Given the description of an element on the screen output the (x, y) to click on. 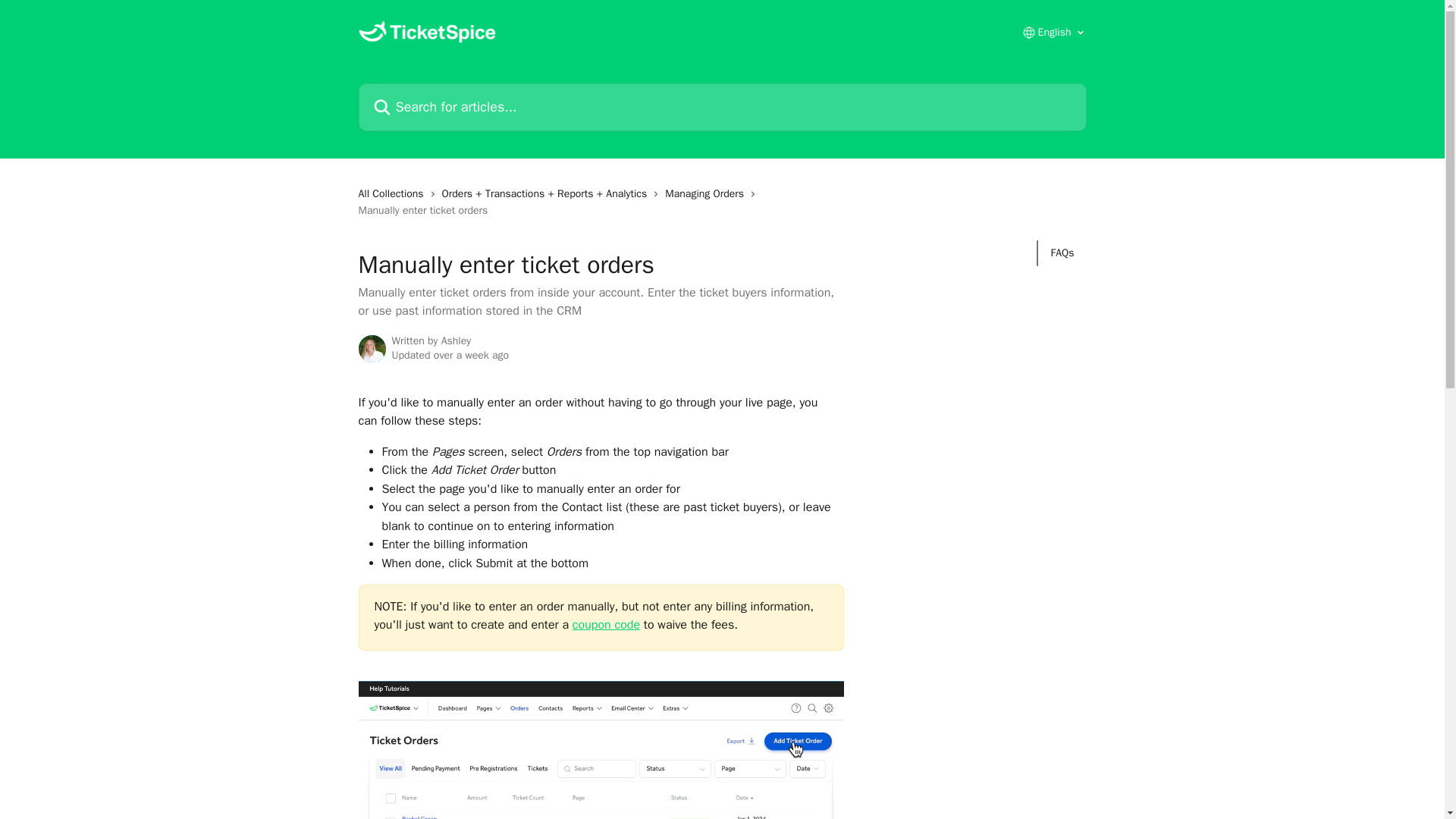
Managing Orders (707, 193)
All Collections (393, 193)
coupon code (606, 624)
FAQs (1061, 252)
